Given the description of an element on the screen output the (x, y) to click on. 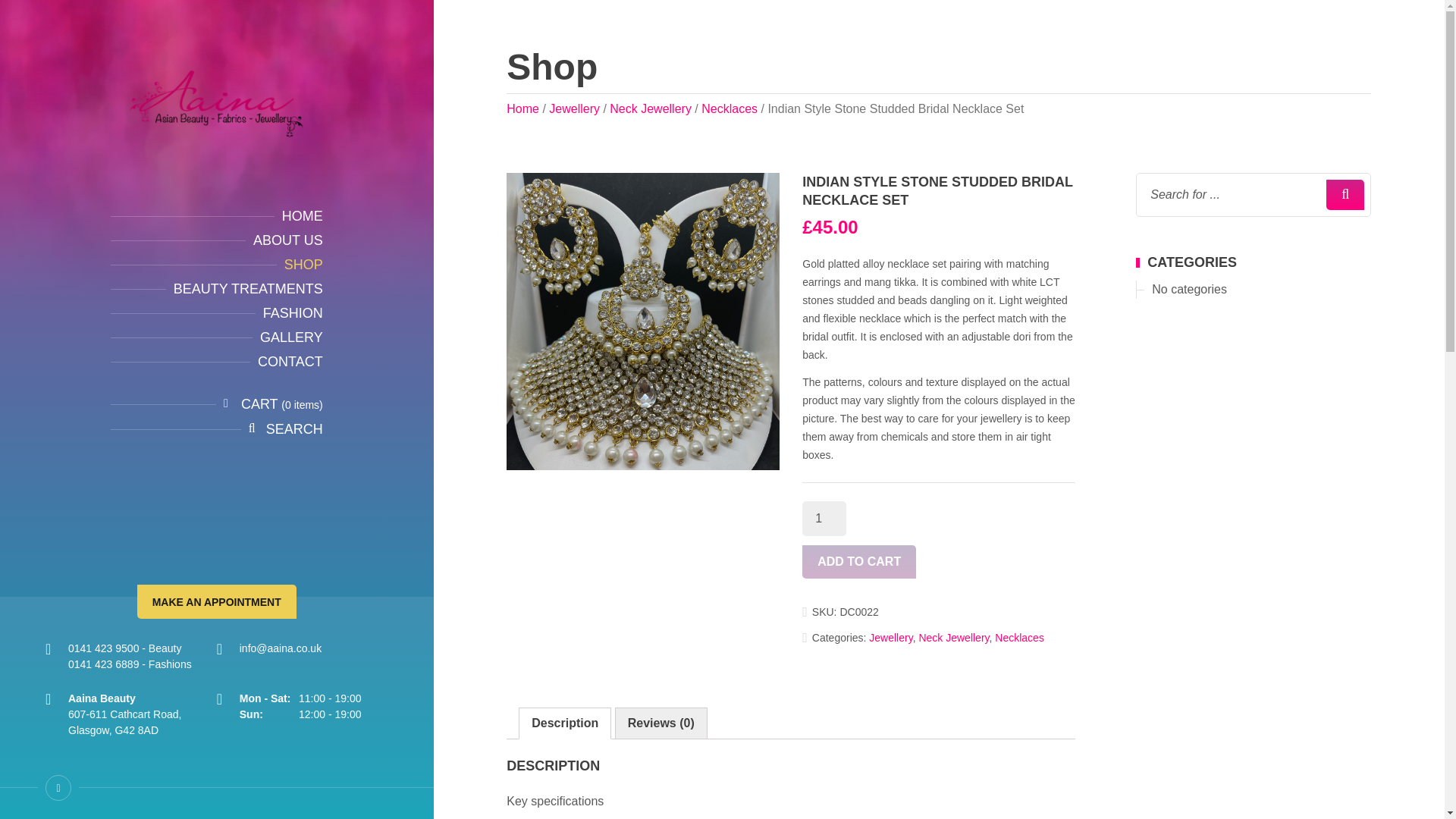
Qty (823, 518)
Neck Jewellery (650, 109)
MAKE AN APPOINTMENT (216, 601)
ABOUT US (288, 240)
Search for ... (1233, 194)
FASHION (293, 313)
SEARCH (294, 429)
Jewellery (890, 637)
CONTACT (290, 361)
Jewellery (573, 109)
Neck Jewellery (953, 637)
ADD TO CART (858, 561)
SHOP (303, 264)
Necklaces (729, 109)
Home (522, 109)
